Given the description of an element on the screen output the (x, y) to click on. 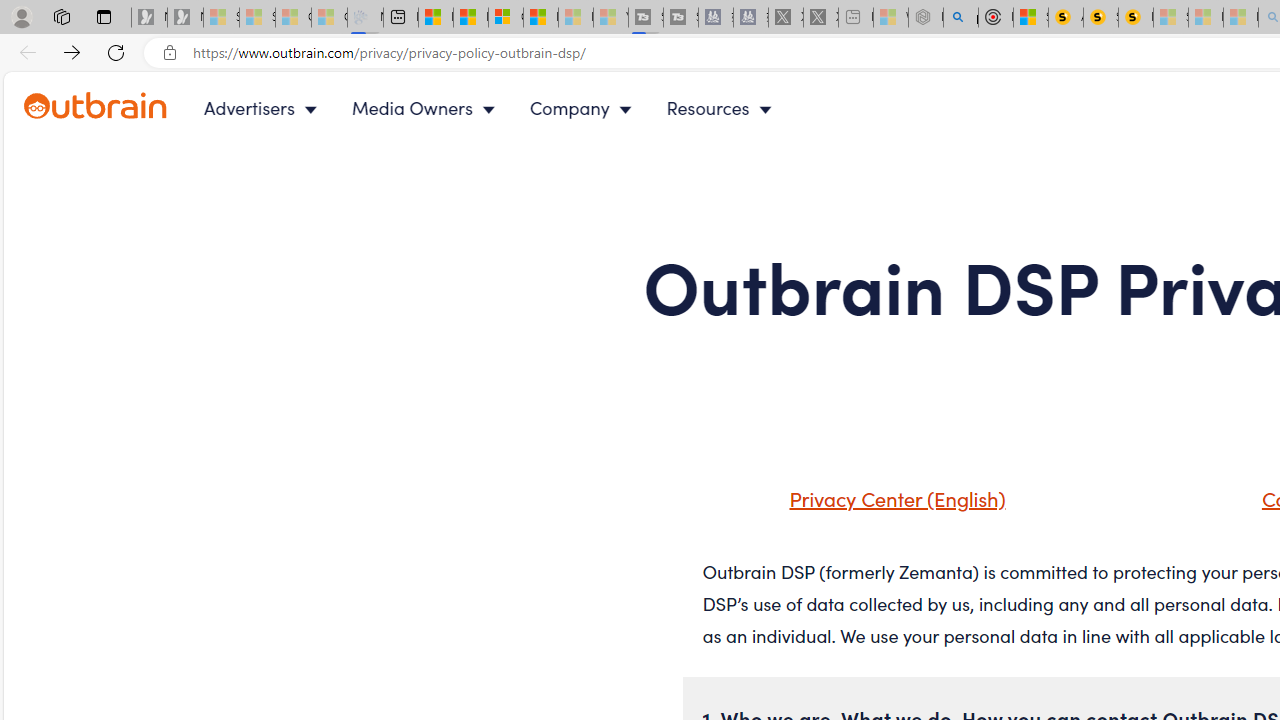
Michelle Starr, Senior Journalist at ScienceAlert (1135, 17)
poe - Search (960, 17)
Overview (506, 17)
Main Navigation (504, 107)
Media Owners (427, 107)
Microsoft Start - Sleeping (575, 17)
Privacy Center (English) (872, 505)
Newsletter Sign Up - Sleeping (185, 17)
Skip navigation to go to main content (60, 83)
